Given the description of an element on the screen output the (x, y) to click on. 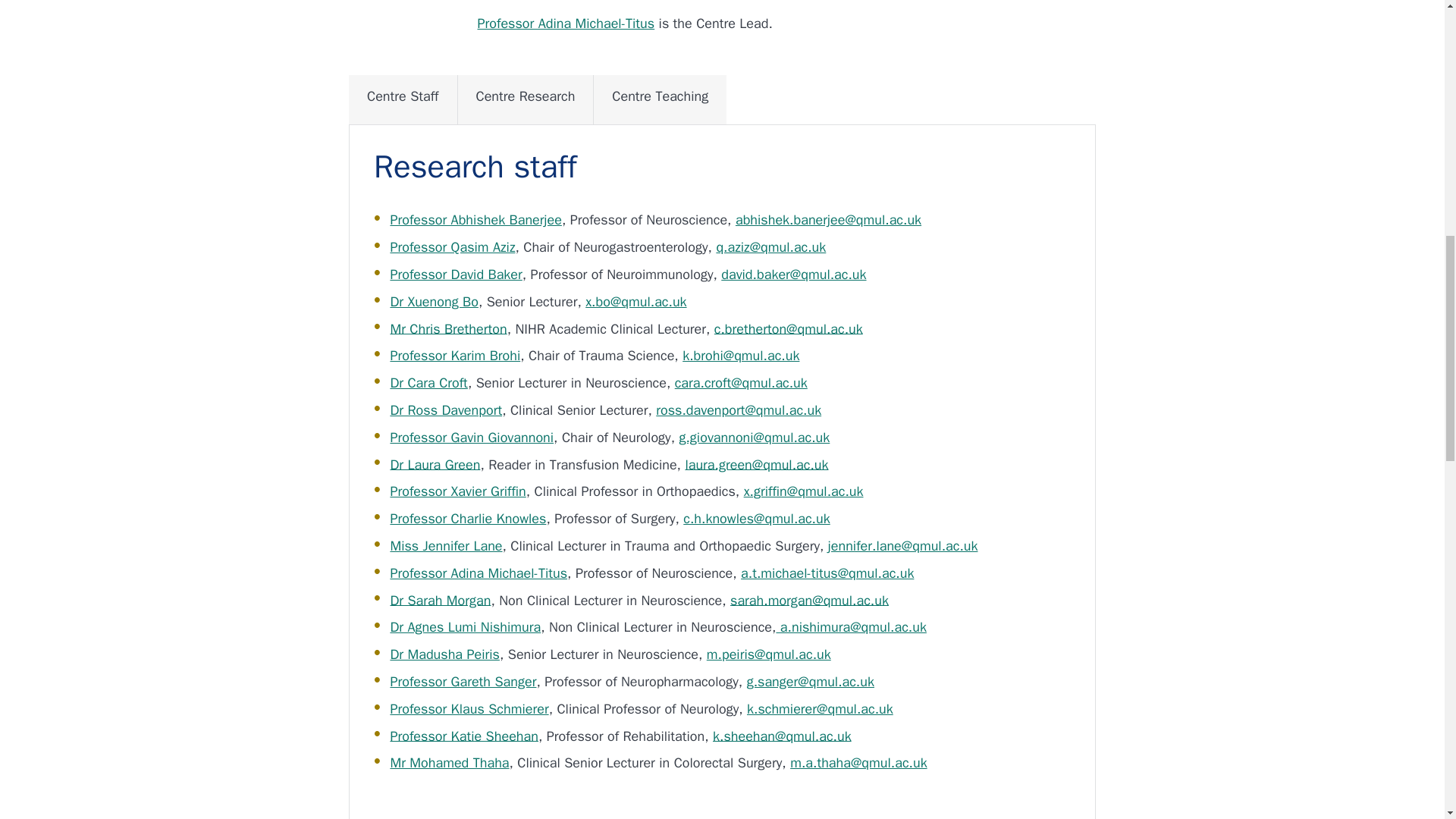
Profile link (452, 247)
Profile link (455, 274)
Email link (740, 355)
Email link (756, 463)
Email link (753, 437)
Profile link (446, 410)
Email link (635, 301)
Email link (793, 274)
Profile link (471, 437)
Chris Bretherton email address (788, 328)
